Given the description of an element on the screen output the (x, y) to click on. 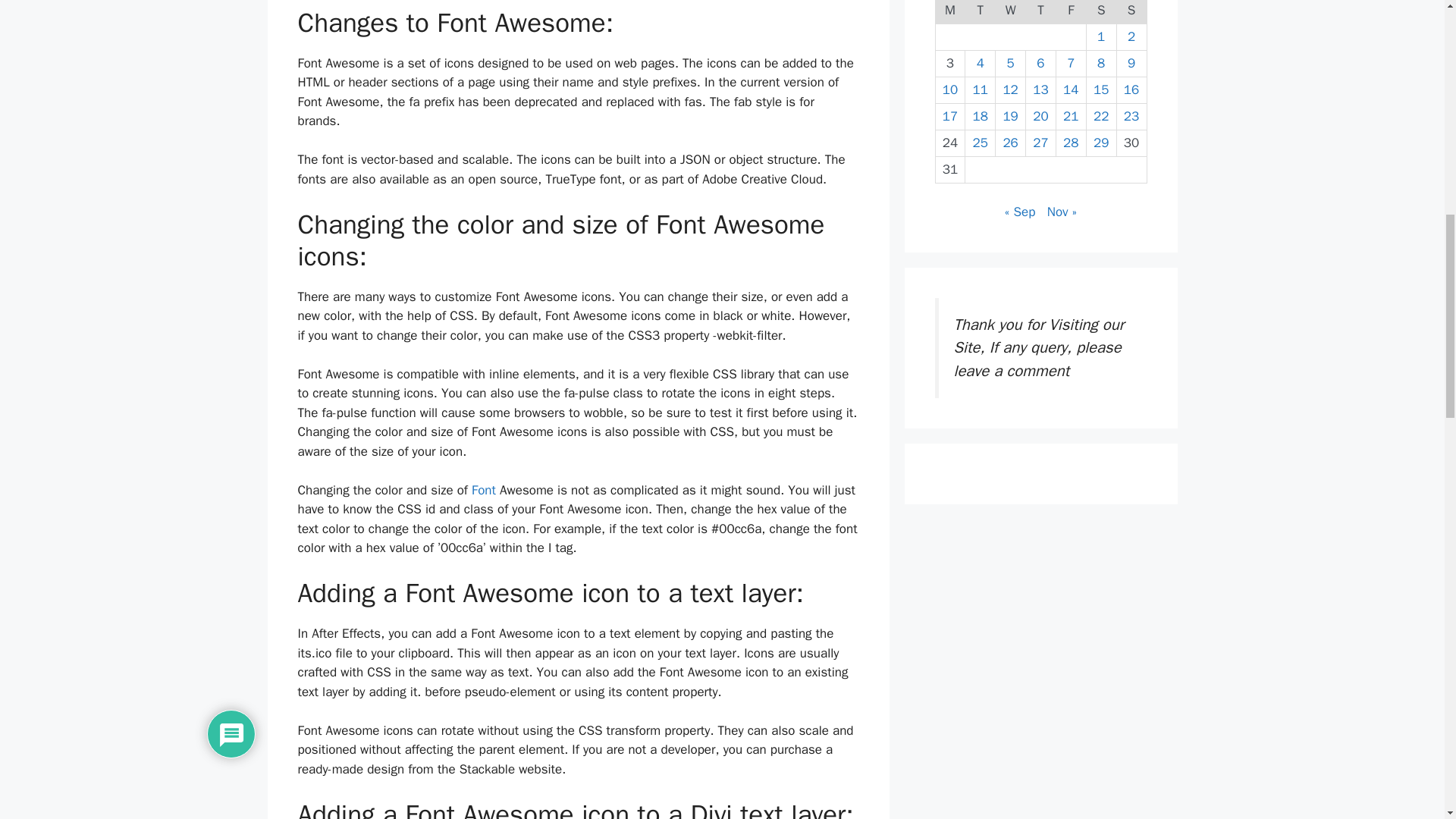
Font (483, 489)
